Given the description of an element on the screen output the (x, y) to click on. 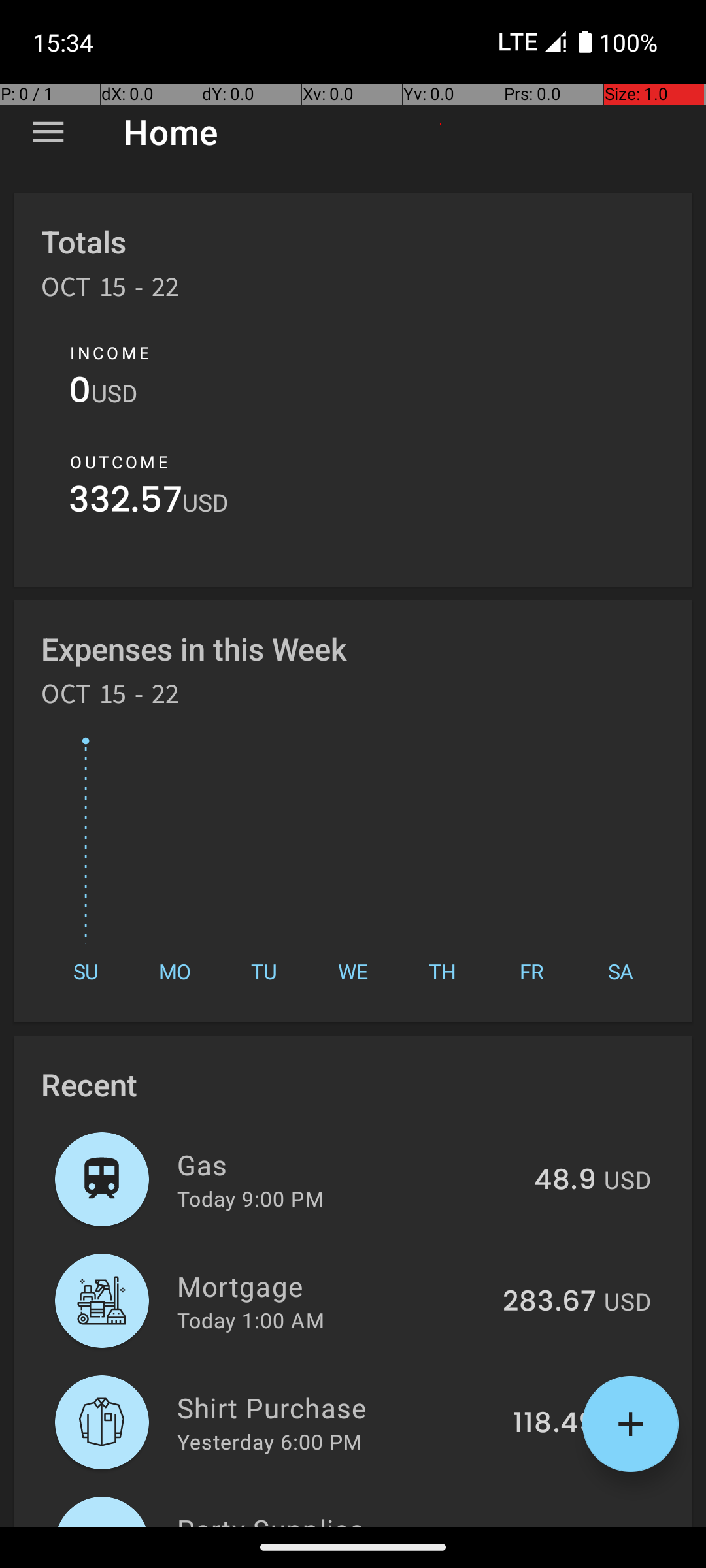
332.57 Element type: android.widget.TextView (125, 502)
48.9 Element type: android.widget.TextView (564, 1180)
Today 1:00 AM Element type: android.widget.TextView (250, 1320)
283.67 Element type: android.widget.TextView (549, 1301)
Shirt Purchase Element type: android.widget.TextView (337, 1407)
Yesterday 6:00 PM Element type: android.widget.TextView (269, 1441)
118.49 Element type: android.widget.TextView (554, 1423)
478.9 Element type: android.widget.TextView (556, 1524)
